Given the description of an element on the screen output the (x, y) to click on. 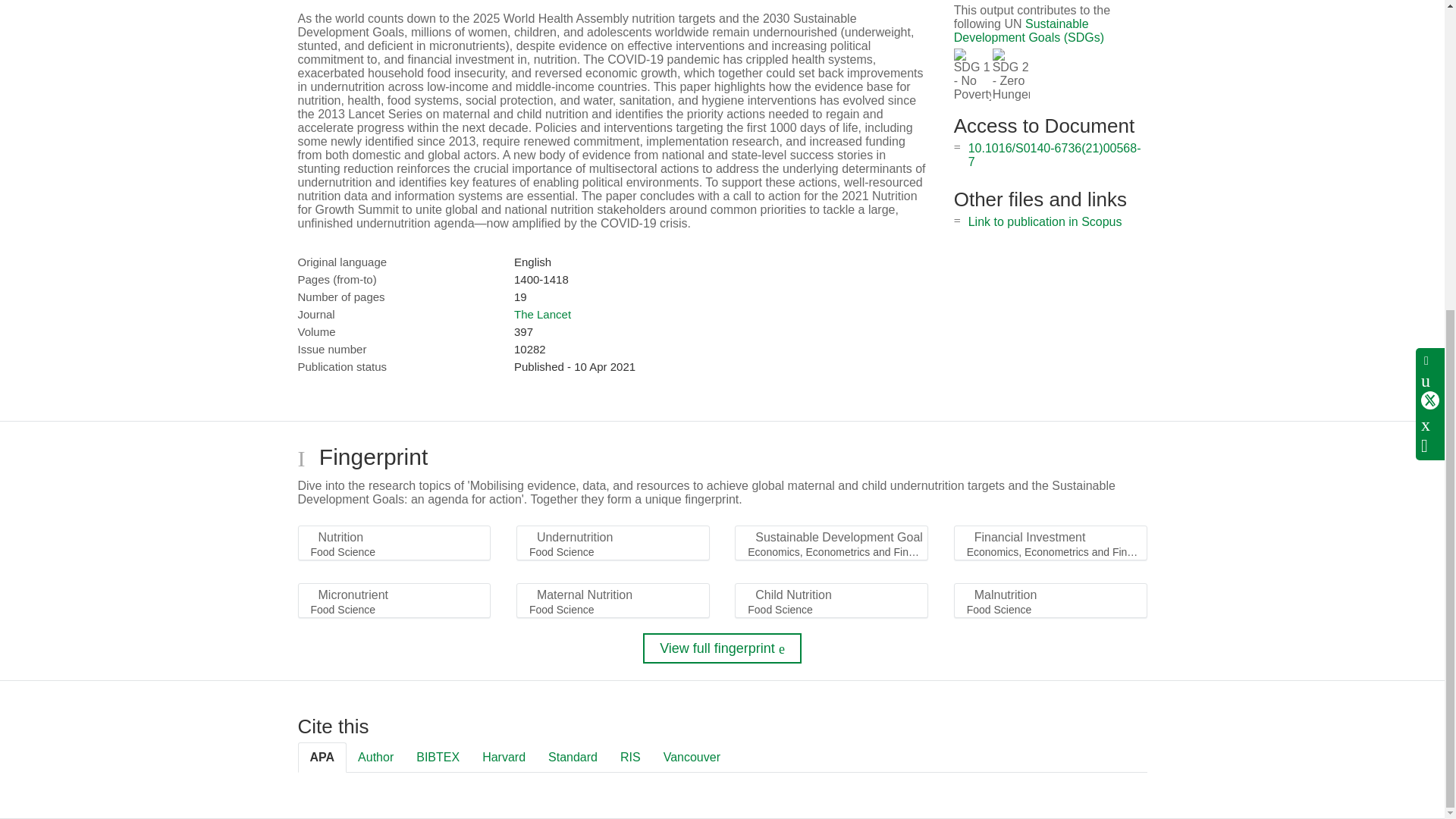
View full fingerprint (722, 648)
The Lancet (541, 314)
Link to publication in Scopus (1045, 221)
